Given the description of an element on the screen output the (x, y) to click on. 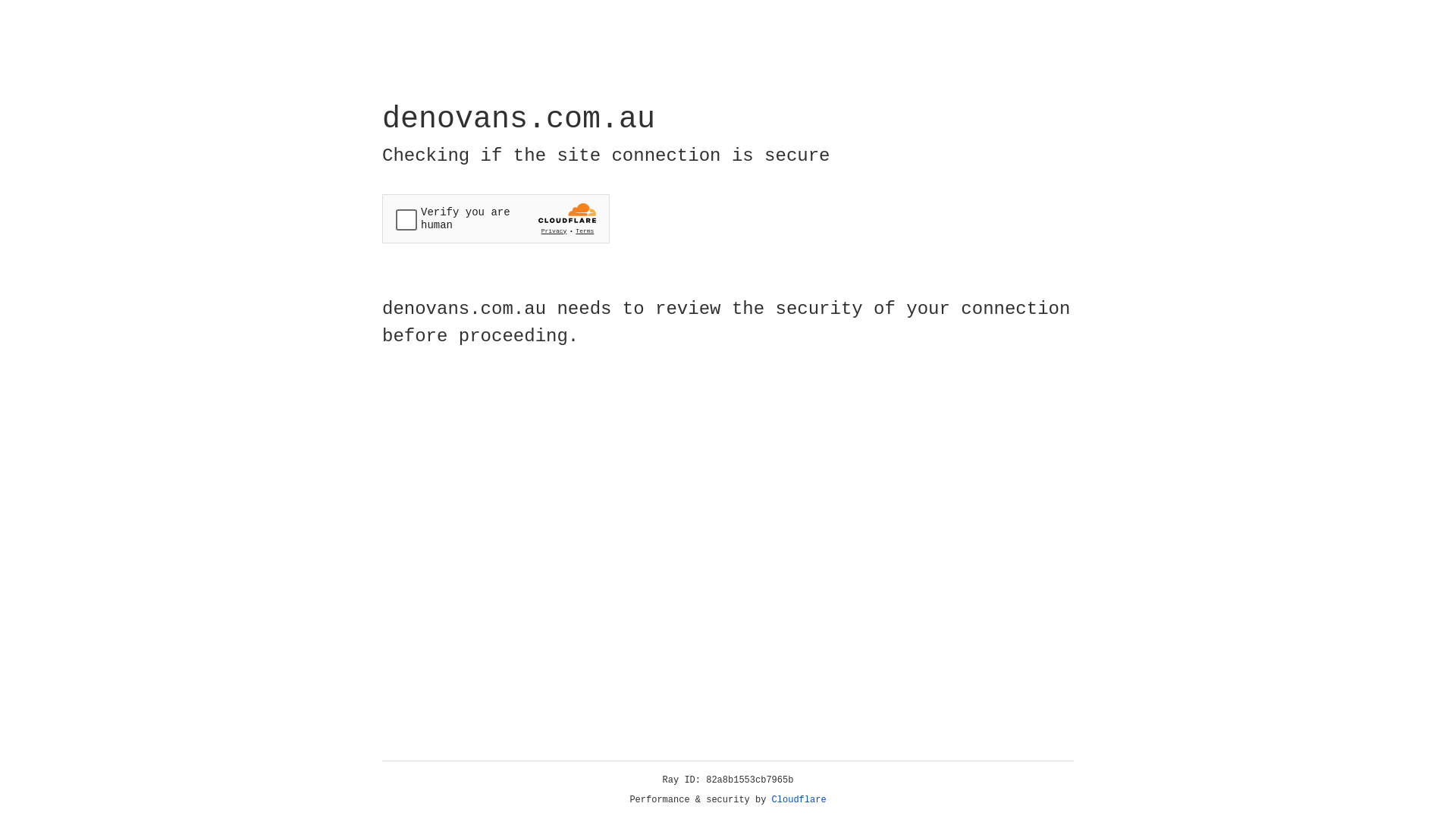
Widget containing a Cloudflare security challenge Element type: hover (495, 218)
Cloudflare Element type: text (798, 799)
